Given the description of an element on the screen output the (x, y) to click on. 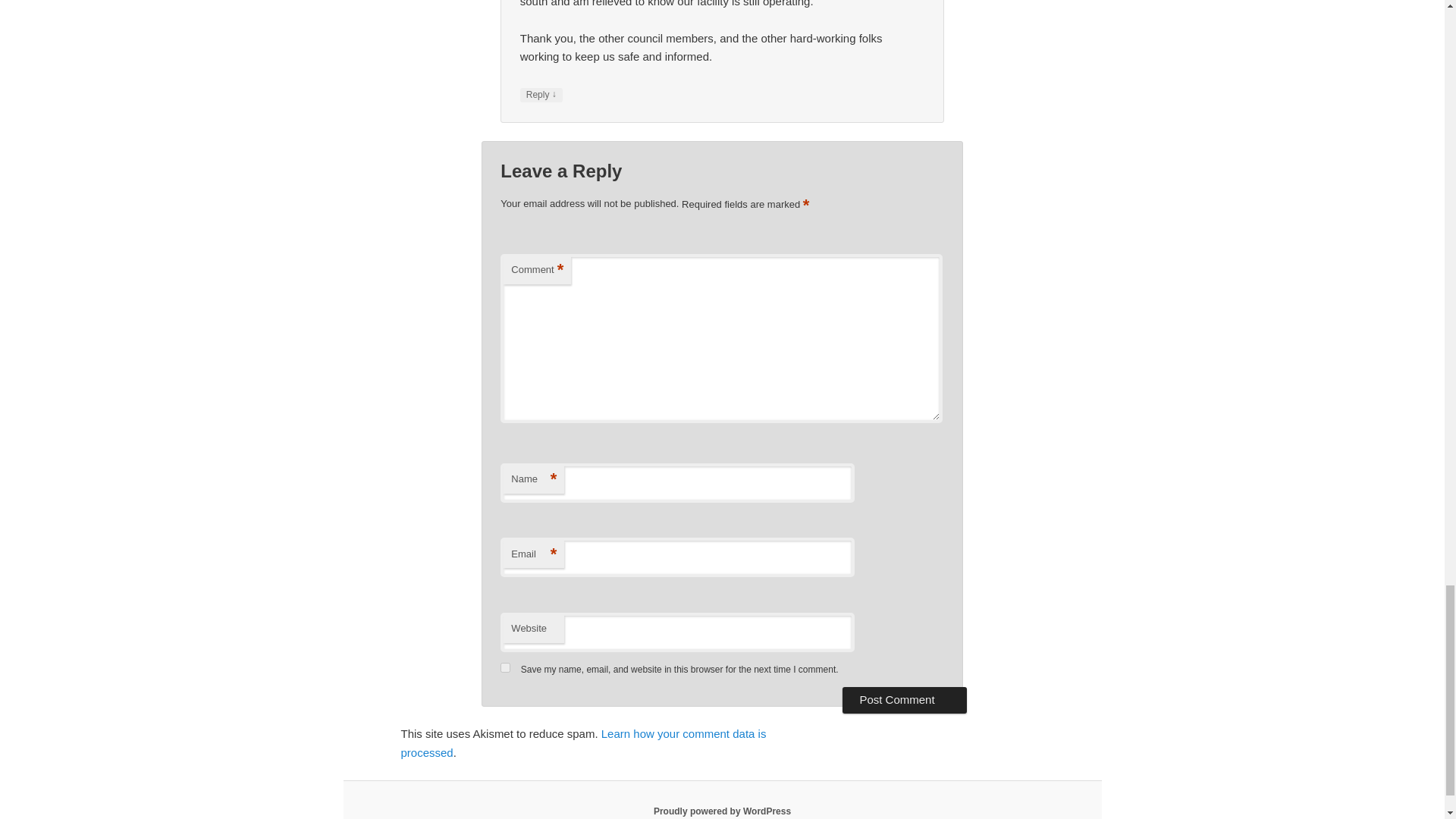
yes (505, 667)
Post Comment (904, 699)
Post Comment (904, 699)
Proudly powered by WordPress (721, 810)
Learn how your comment data is processed (582, 742)
Semantic Personal Publishing Platform (721, 810)
